Given the description of an element on the screen output the (x, y) to click on. 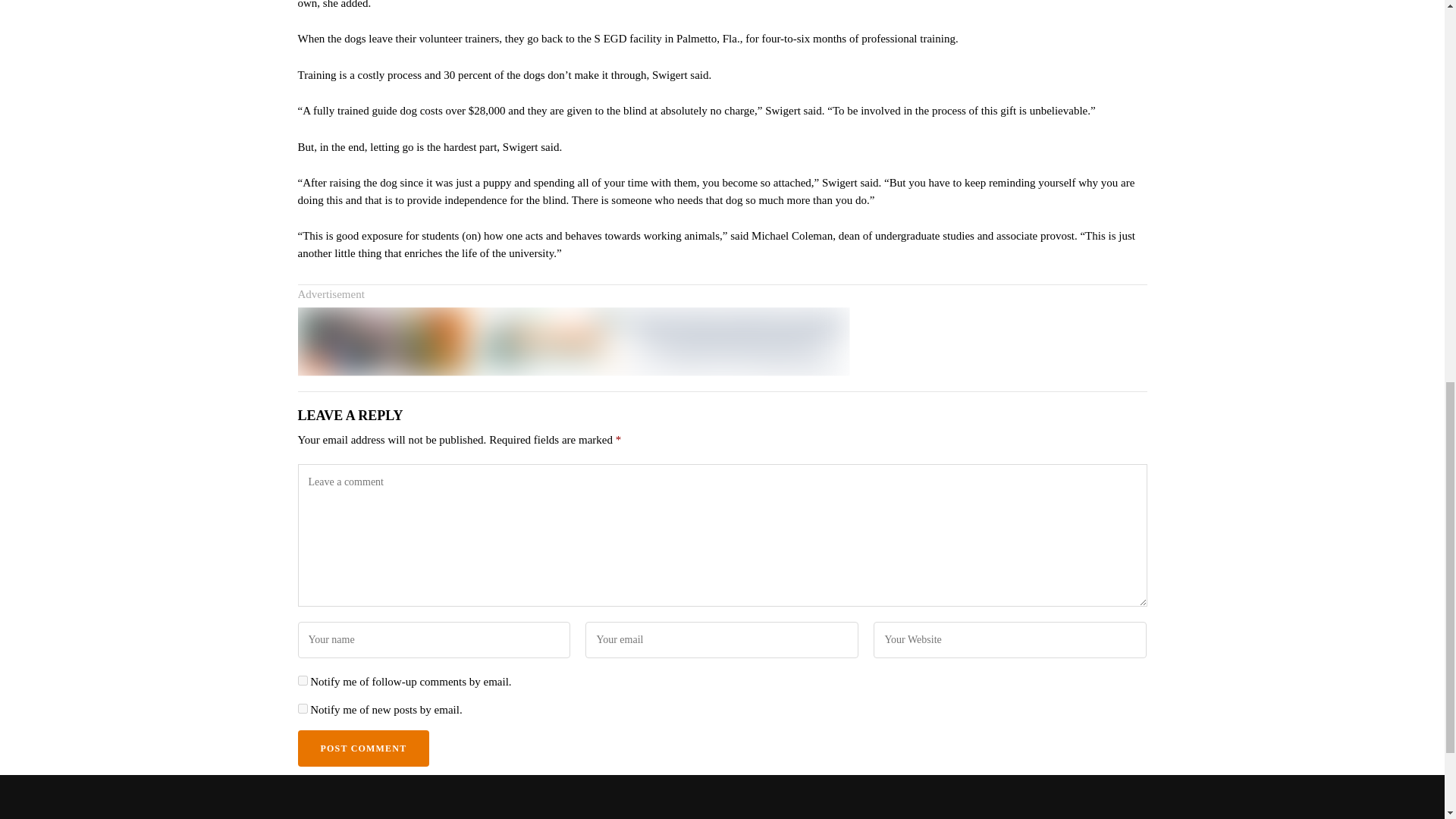
subscribe (302, 708)
Post Comment (363, 748)
subscribe (302, 680)
